Given the description of an element on the screen output the (x, y) to click on. 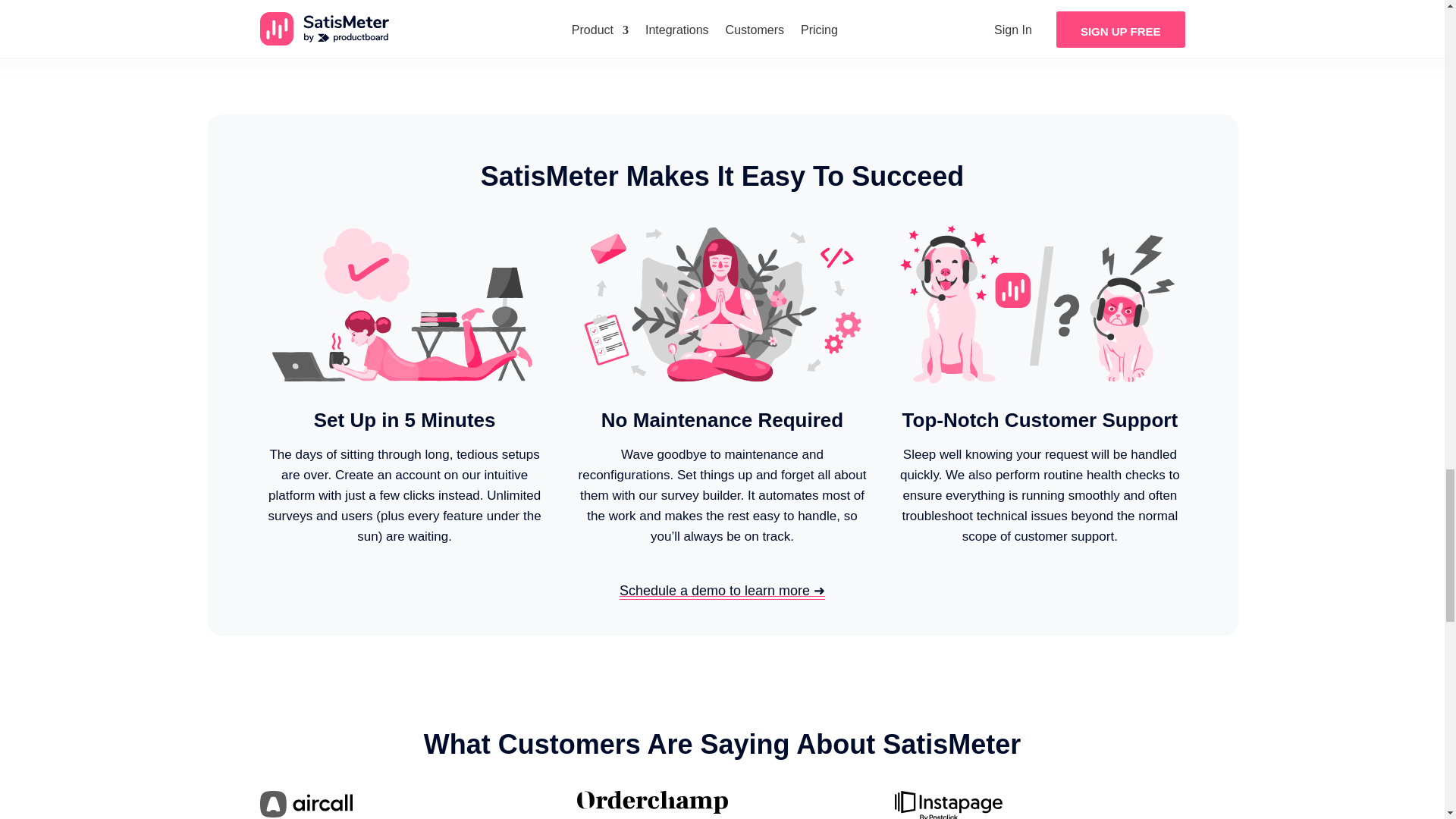
Orderchamp (651, 802)
Aircall (305, 804)
Instapage (948, 805)
